Given the description of an element on the screen output the (x, y) to click on. 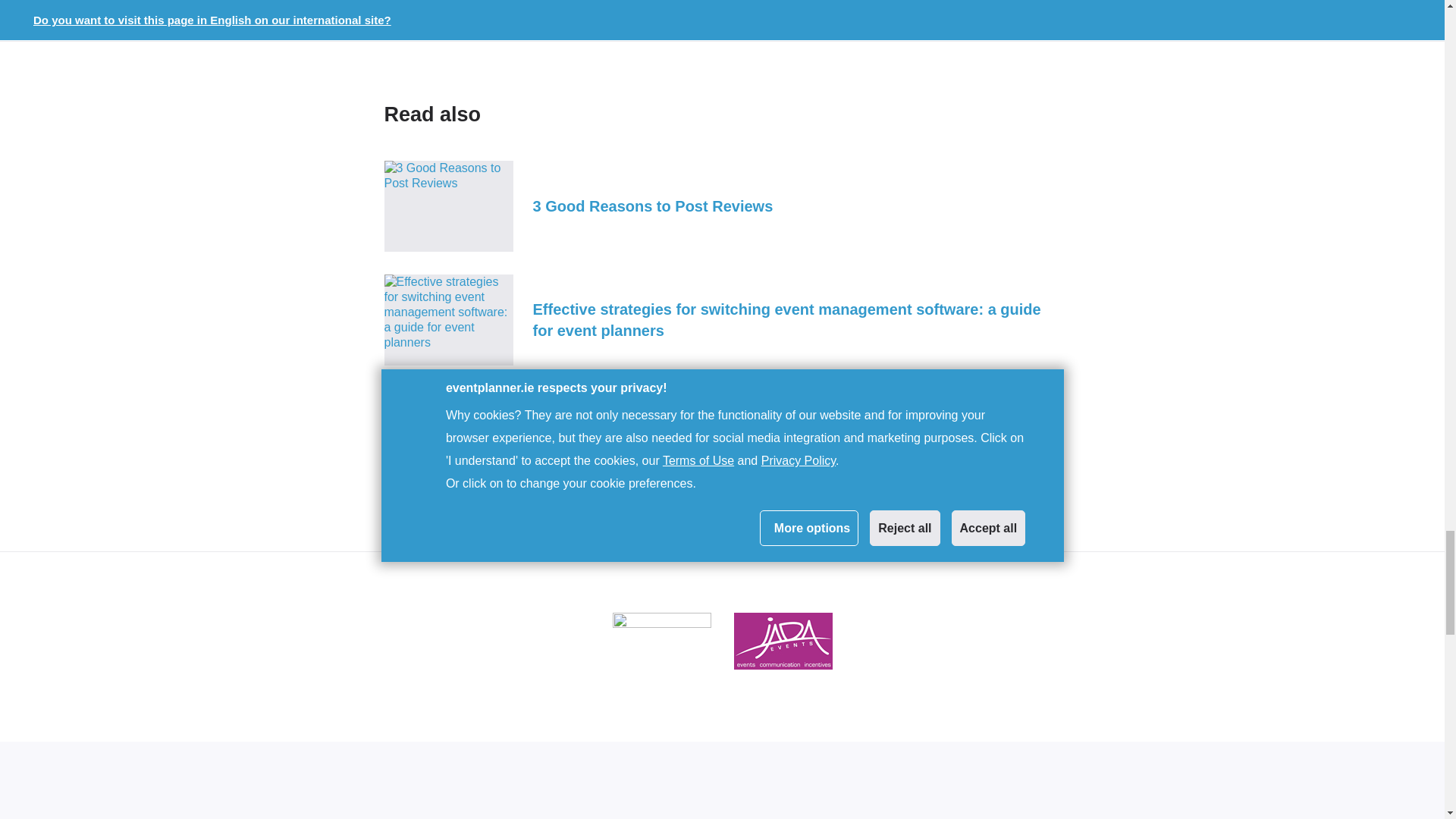
3 Good Reasons to Post Reviews (721, 205)
